Given the description of an element on the screen output the (x, y) to click on. 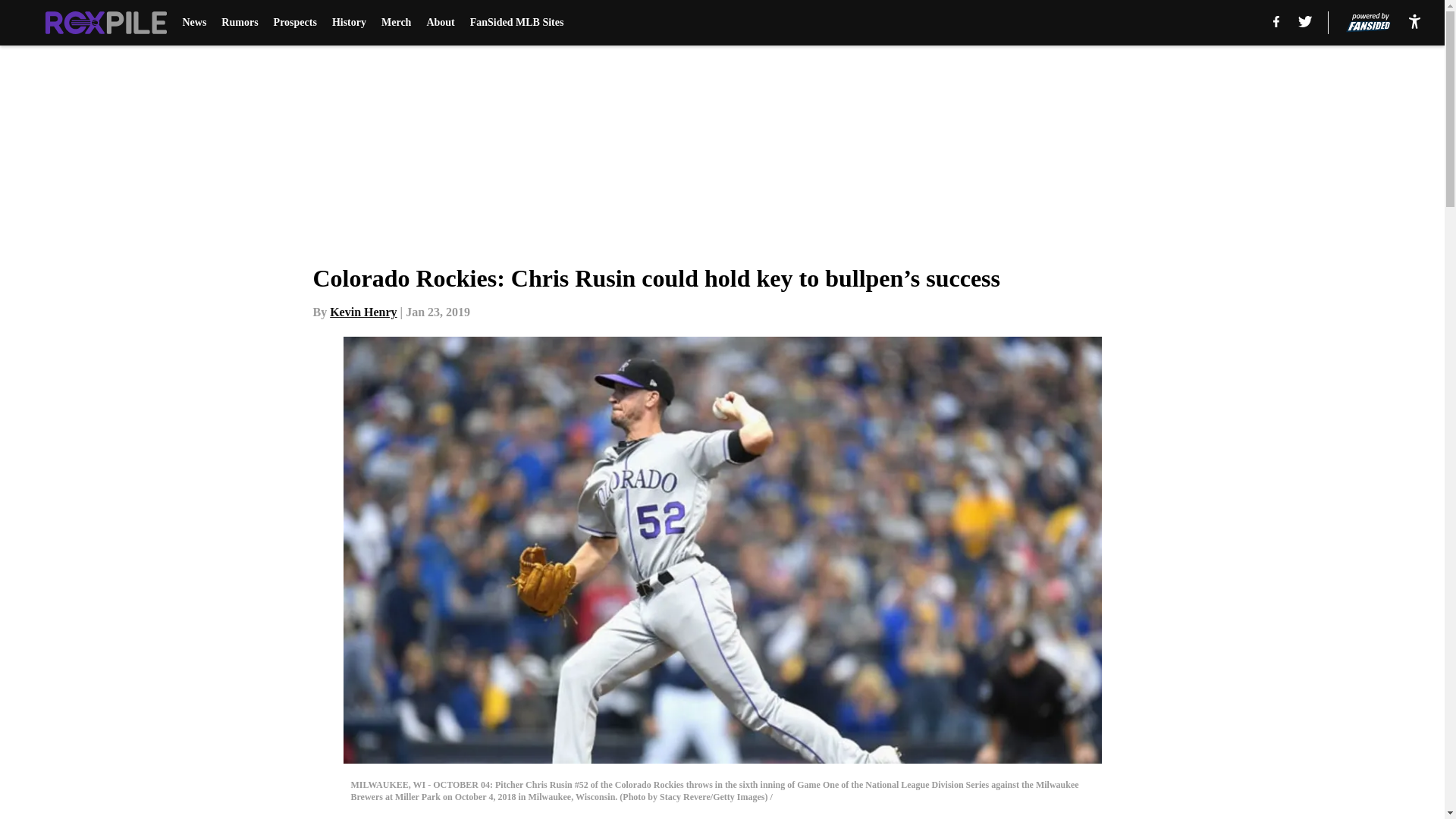
Kevin Henry (363, 311)
Prospects (295, 22)
Rumors (239, 22)
About (440, 22)
History (348, 22)
Merch (395, 22)
News (194, 22)
FanSided MLB Sites (517, 22)
